Given the description of an element on the screen output the (x, y) to click on. 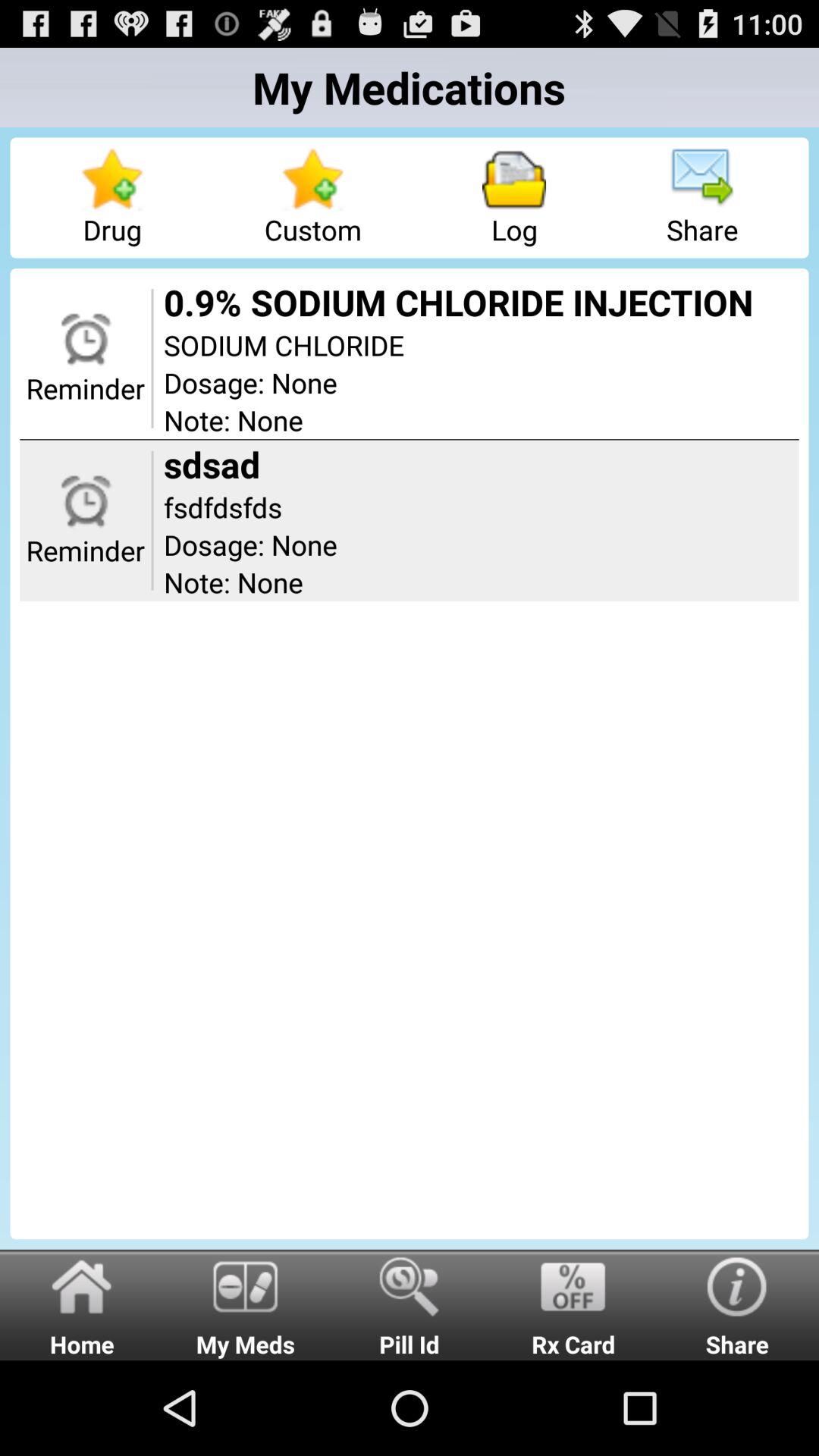
press icon next to my meds radio button (409, 1304)
